Given the description of an element on the screen output the (x, y) to click on. 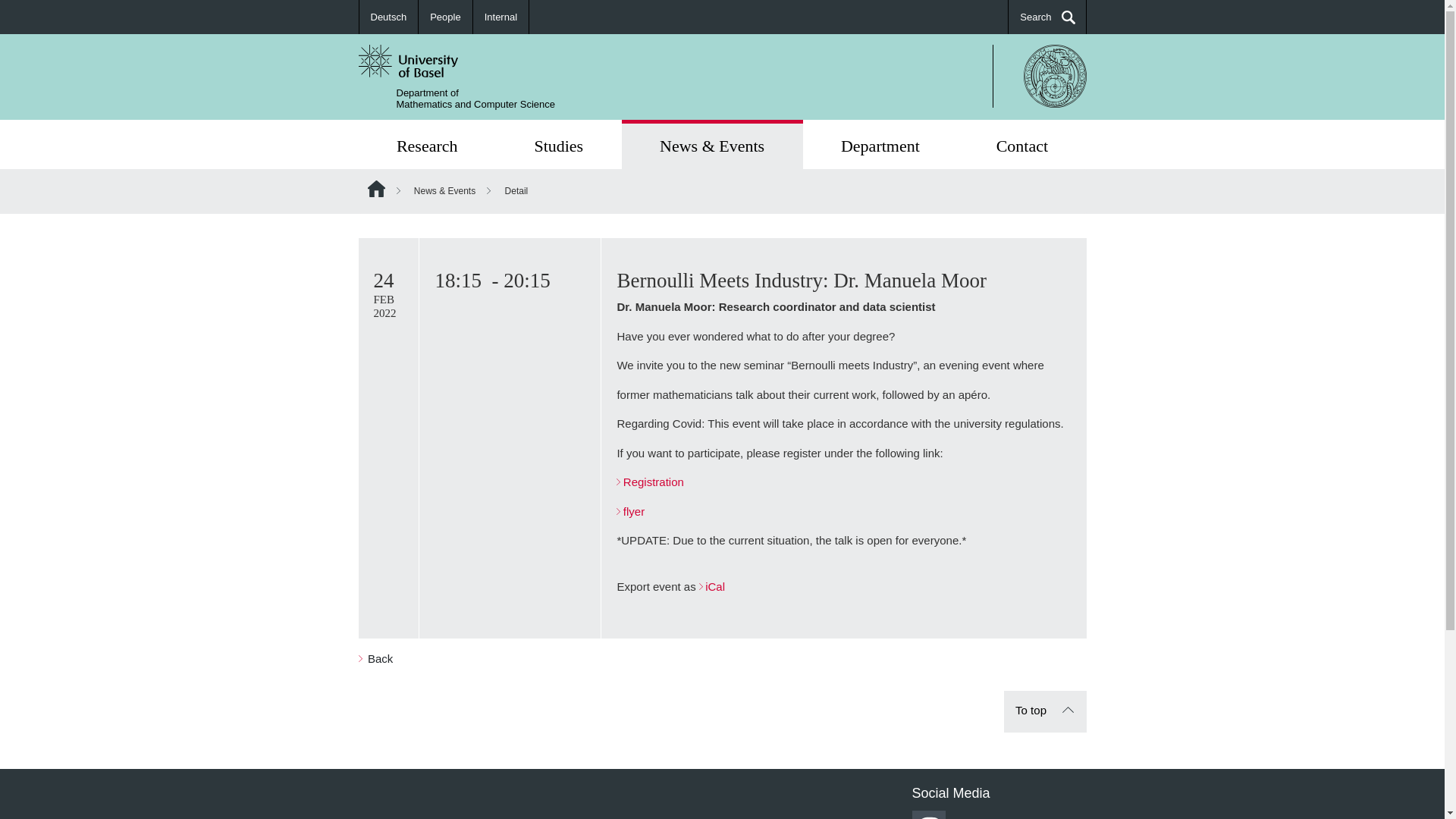
Research (426, 143)
Back (375, 658)
Search (1047, 17)
Research (426, 143)
flyer (630, 511)
Website Root (375, 188)
Registration (648, 481)
Internal (500, 17)
To top (475, 97)
Department (1045, 711)
To top (880, 143)
People (1045, 711)
Department (444, 17)
Mastodon (880, 143)
